Given the description of an element on the screen output the (x, y) to click on. 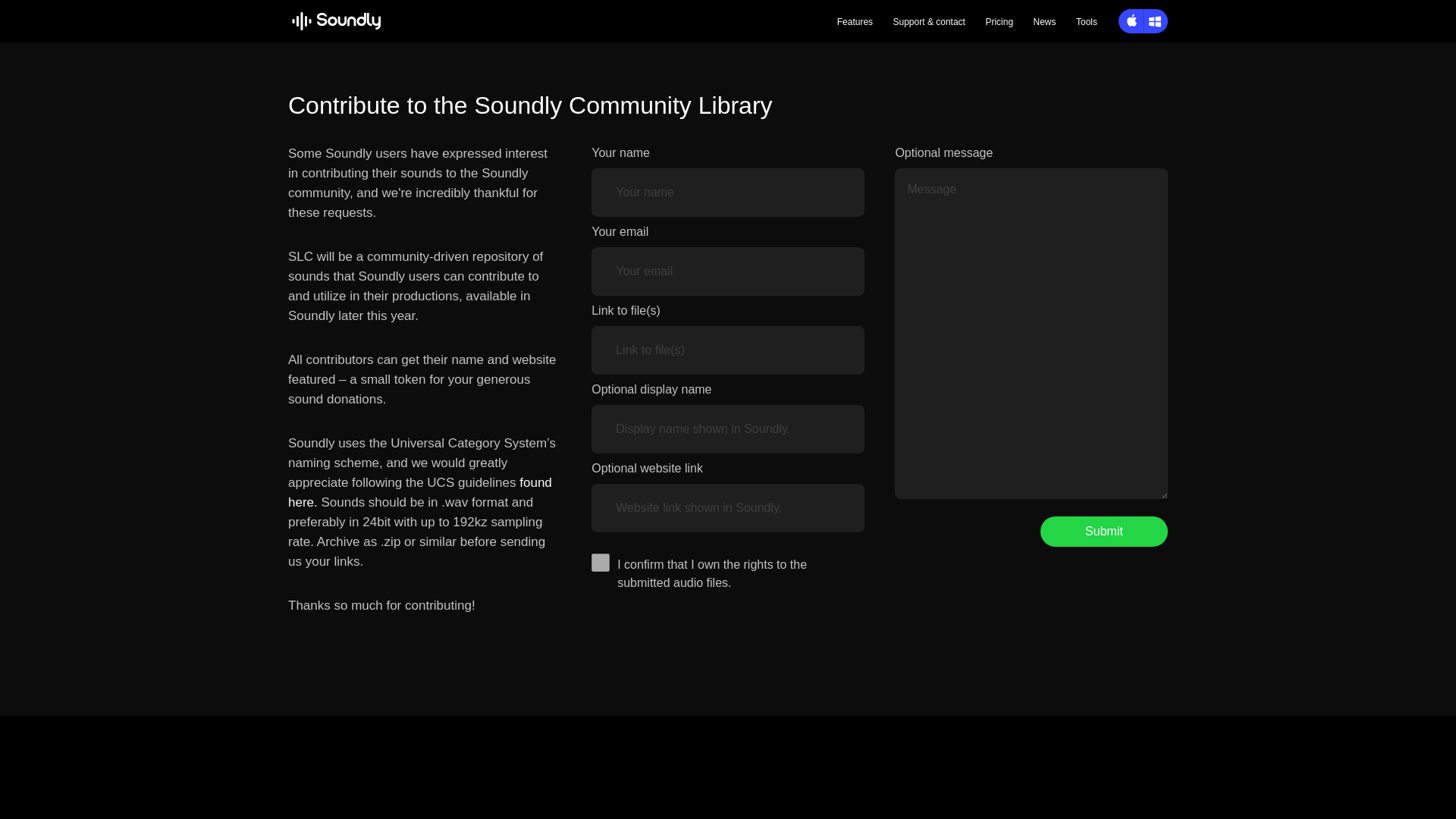
Tools (1086, 21)
found here. (419, 492)
Features (854, 21)
News (1045, 21)
Pricing (999, 21)
Submit (1104, 531)
Submit (1104, 531)
